Given the description of an element on the screen output the (x, y) to click on. 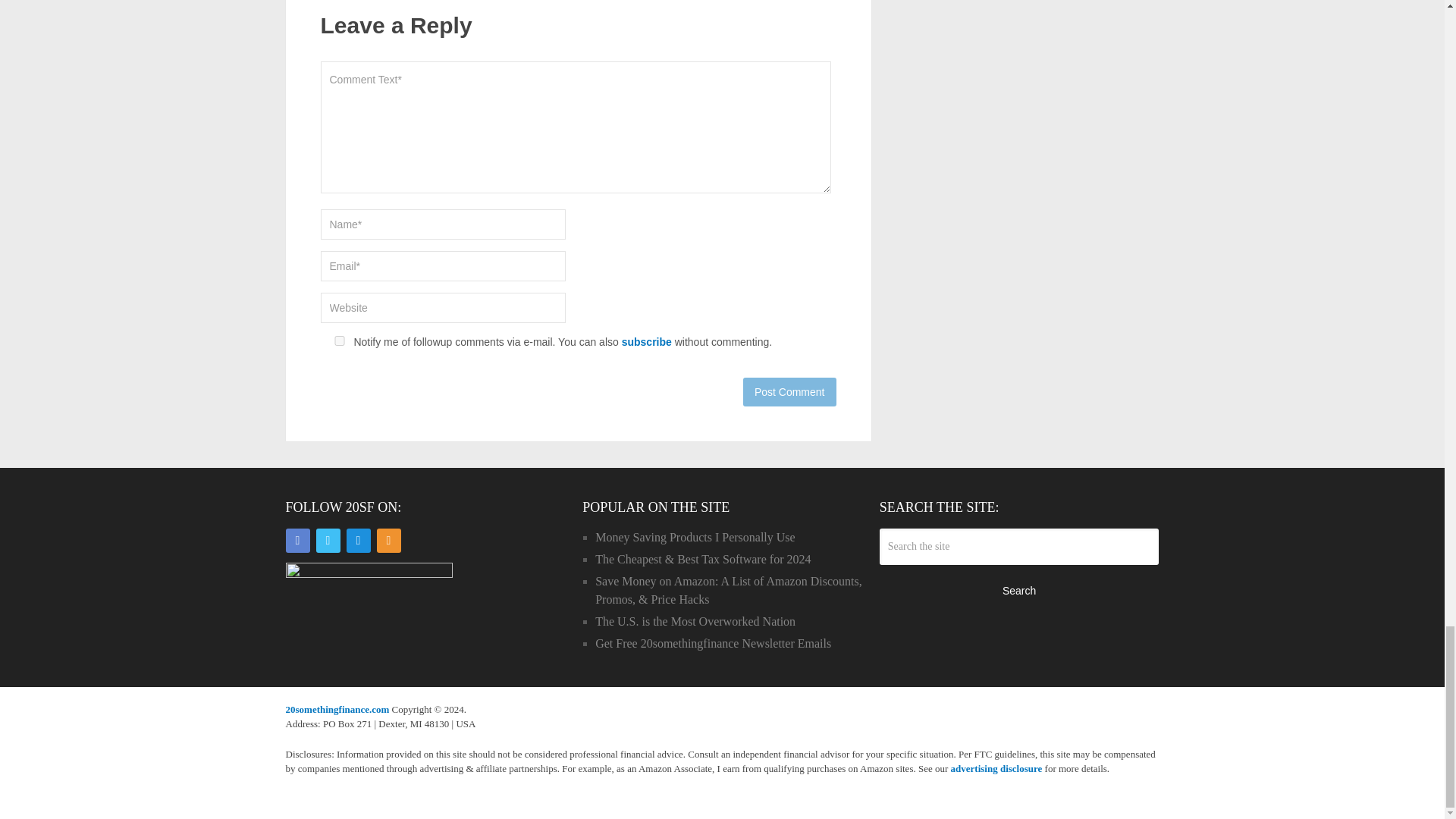
Money Saving Products I Personally Use (694, 536)
Email (357, 540)
yes (338, 340)
Twitter (327, 540)
Post Comment (788, 391)
Facebook (296, 540)
The U.S. is the Most Overworked Nation in the World (694, 621)
RSS (387, 540)
